Given the description of an element on the screen output the (x, y) to click on. 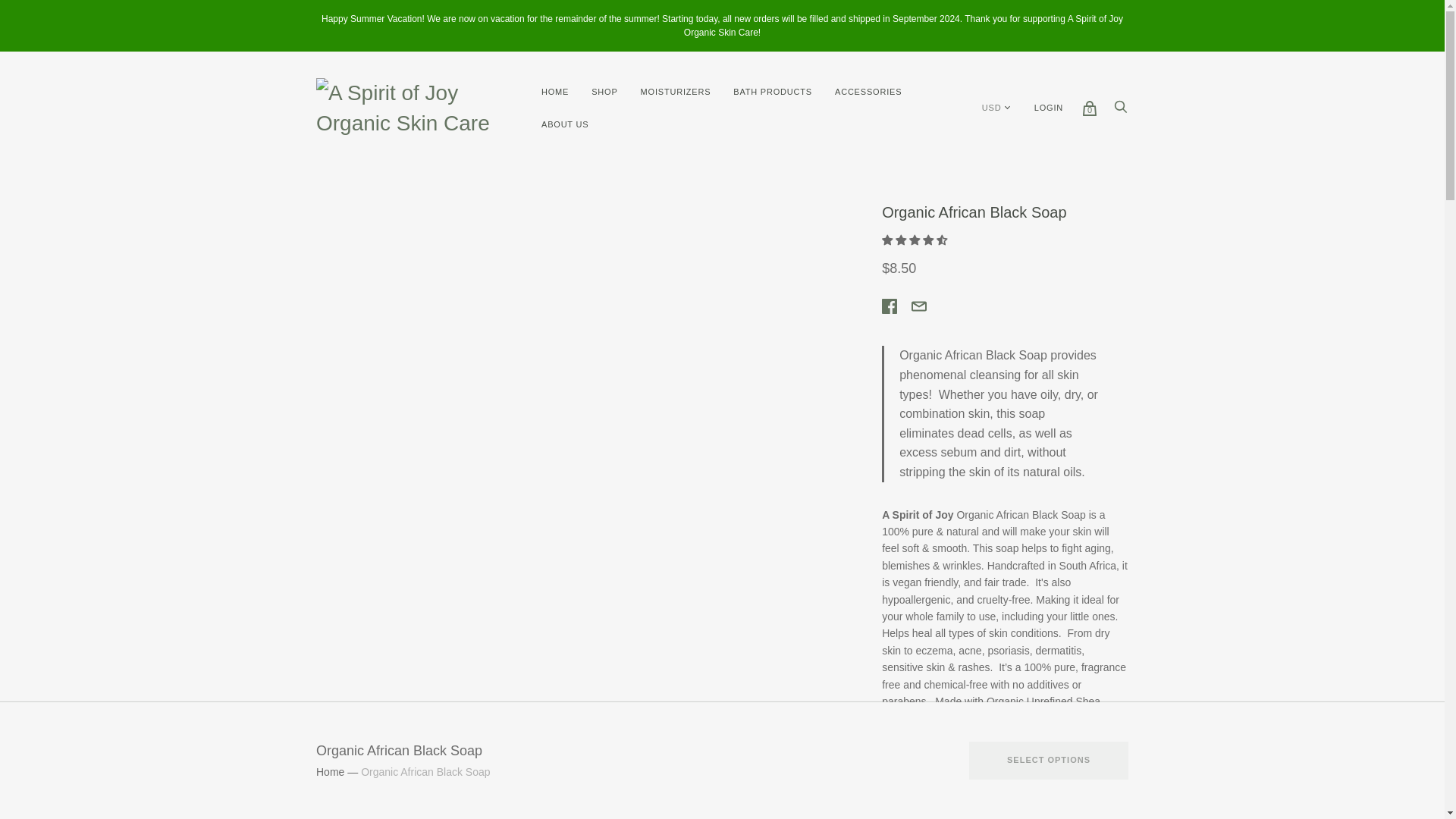
LOGIN (1048, 107)
ACCESSORIES (868, 92)
MOISTURIZERS (675, 92)
ABOUT US (564, 124)
SELECT OPTIONS (1048, 760)
0 (1089, 108)
Home (329, 771)
BATH PRODUCTS (773, 92)
Home (329, 771)
SHOP (603, 92)
HOME (554, 92)
